Given the description of an element on the screen output the (x, y) to click on. 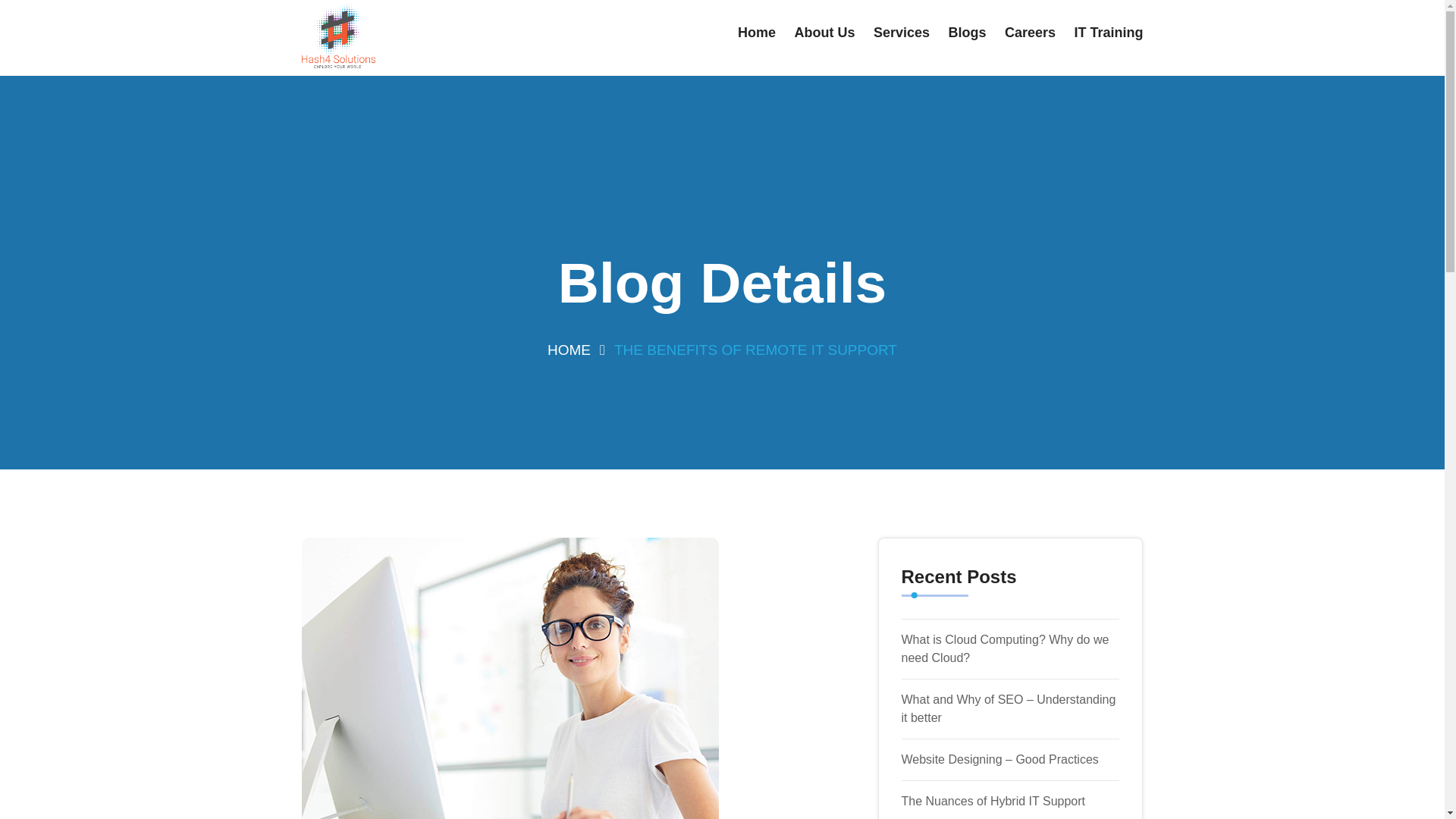
About Us (825, 32)
Careers (1029, 32)
HOME (569, 349)
Hash4 Solutions (398, 38)
What is Cloud Computing? Why do we need Cloud? (1004, 648)
Services (901, 32)
Home (757, 32)
IT Training (1108, 32)
The Nuances of Hybrid IT Support (992, 800)
Blogs (966, 32)
